Given the description of an element on the screen output the (x, y) to click on. 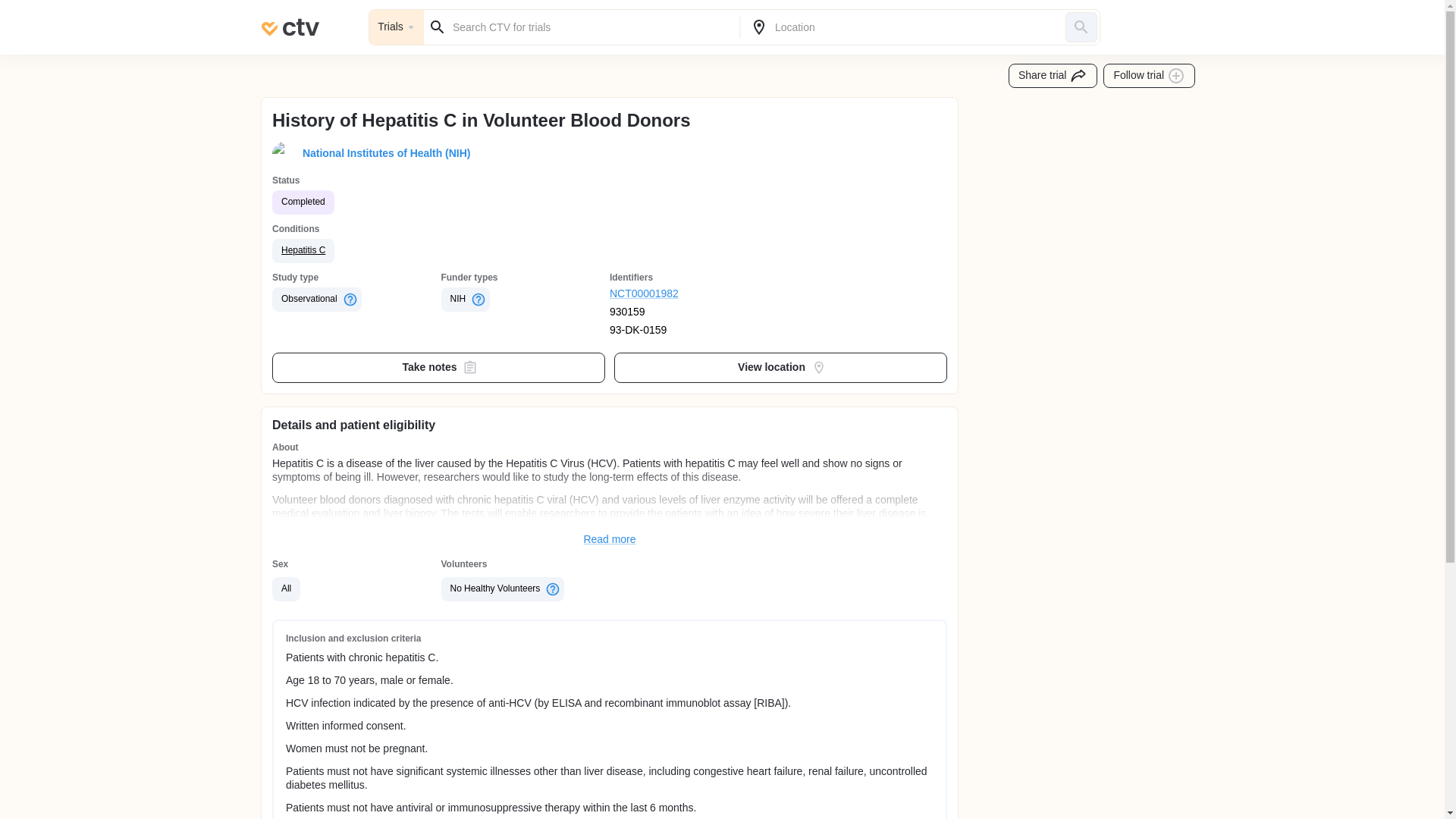
NCT00001982 (694, 294)
Take notes (438, 367)
Share trial (1053, 75)
Read more (609, 540)
Trials (396, 27)
View location (780, 367)
Follow trial (1149, 75)
